Given the description of an element on the screen output the (x, y) to click on. 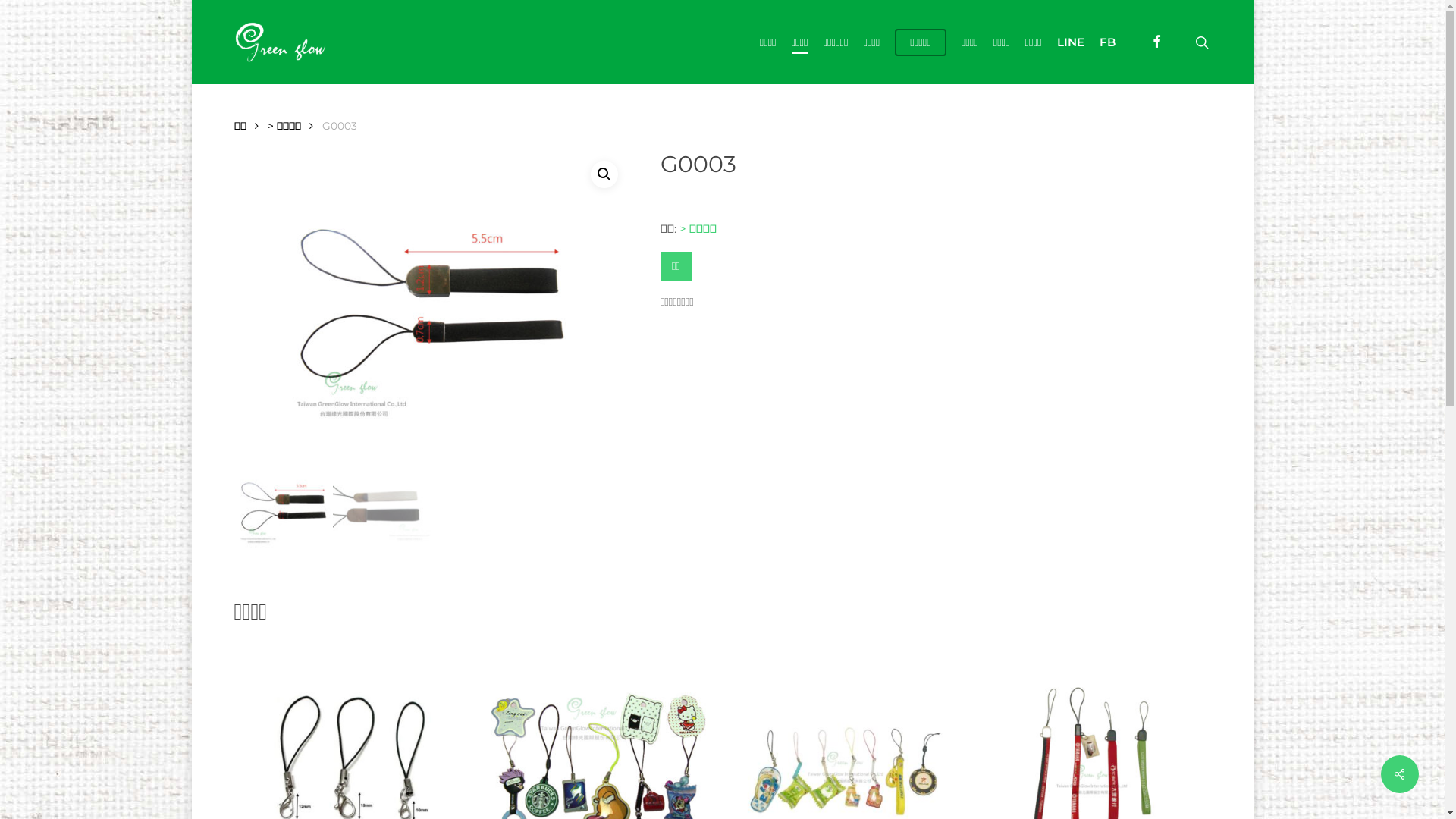
G0003-1 Element type: hover (431, 303)
search Element type: text (1201, 42)
FB Element type: text (1107, 41)
LINE Element type: text (1070, 41)
facebook Element type: text (1155, 41)
